Given the description of an element on the screen output the (x, y) to click on. 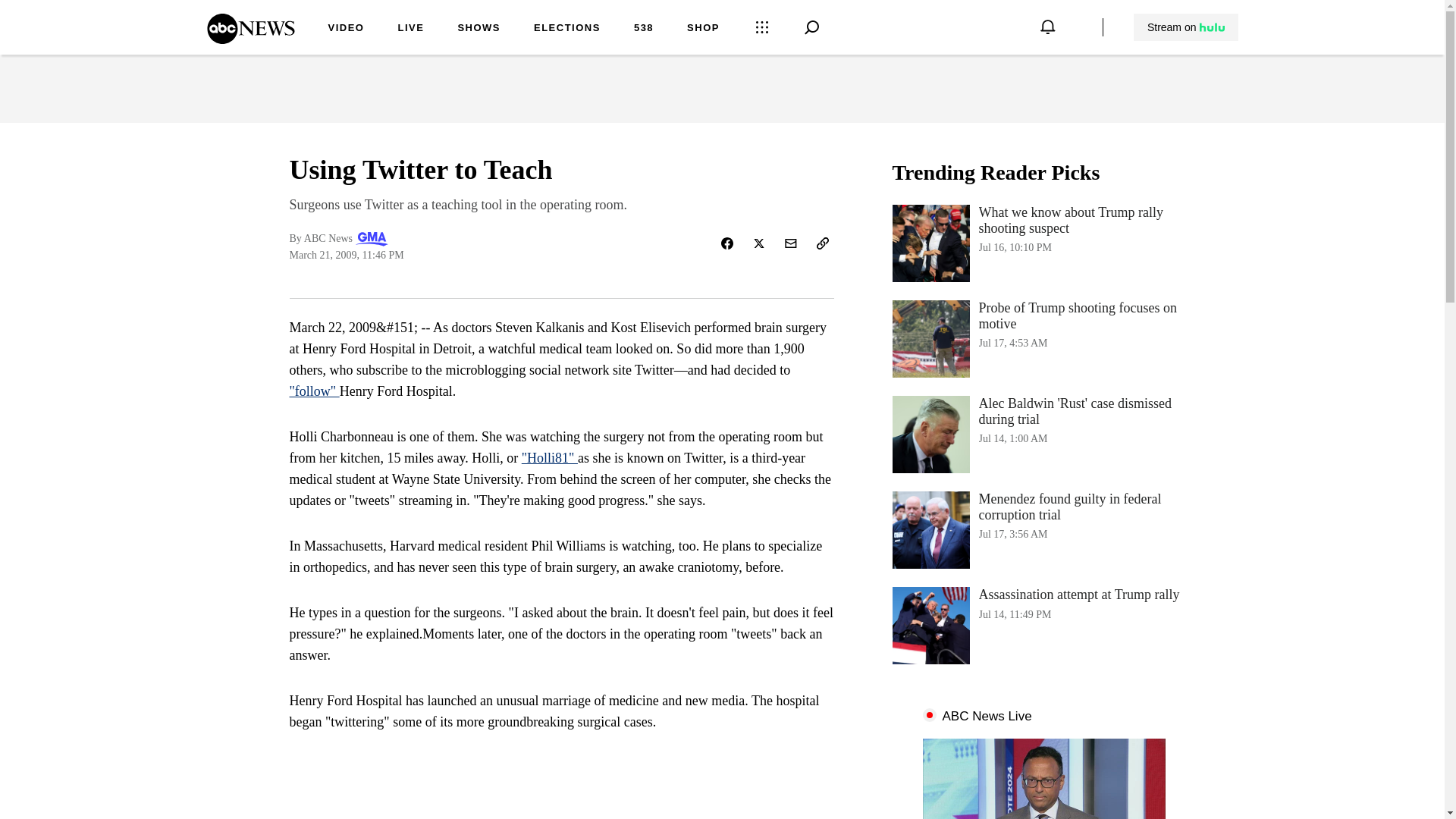
Stream on (1185, 27)
LIVE (410, 28)
SHOP (703, 28)
"follow" (314, 391)
"Holli81" (549, 458)
ELECTIONS (566, 28)
Stream on (1186, 26)
ABC News (1043, 338)
538 (250, 38)
VIDEO (643, 28)
